Given the description of an element on the screen output the (x, y) to click on. 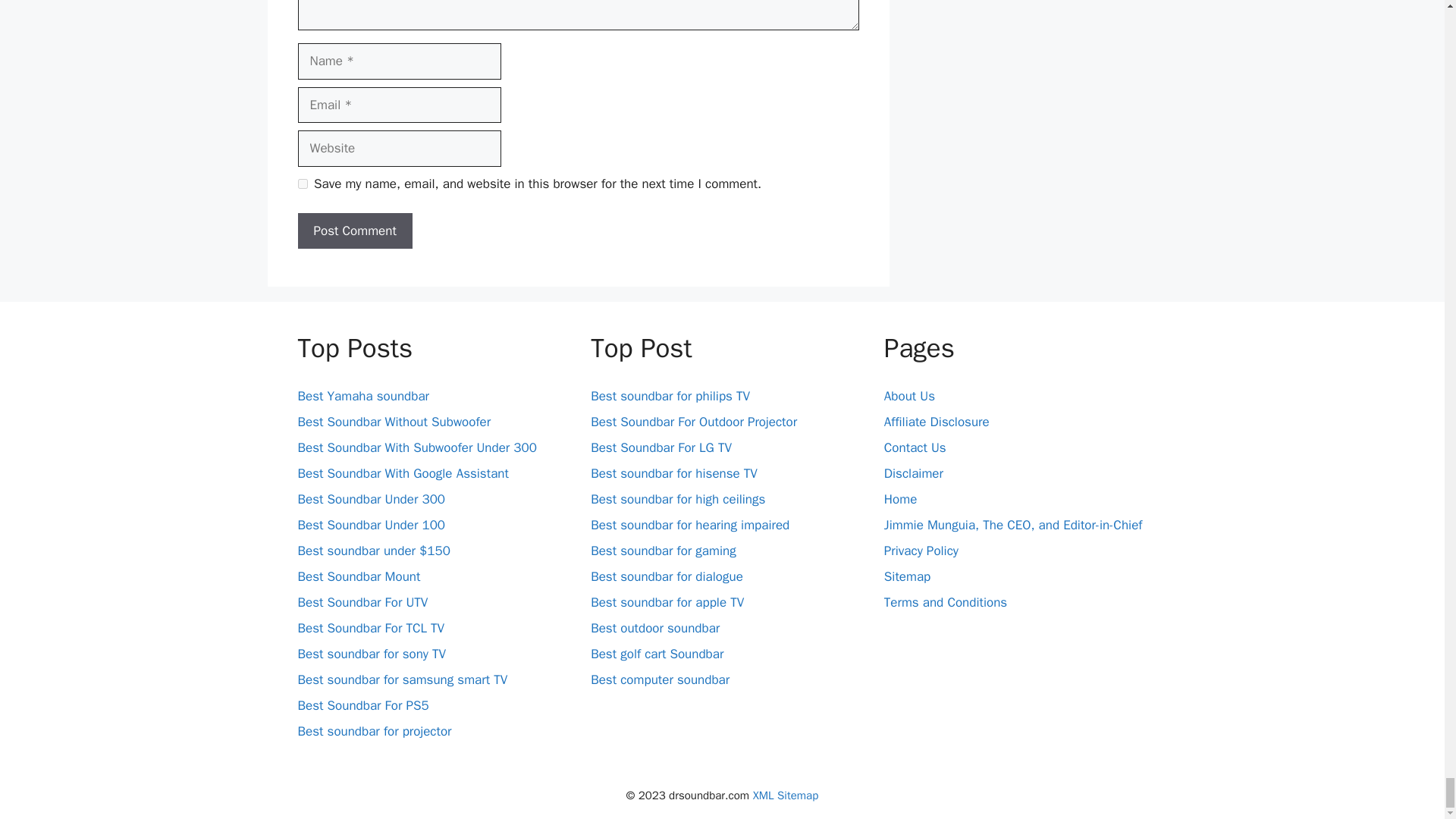
Post Comment (354, 230)
yes (302, 184)
